Given the description of an element on the screen output the (x, y) to click on. 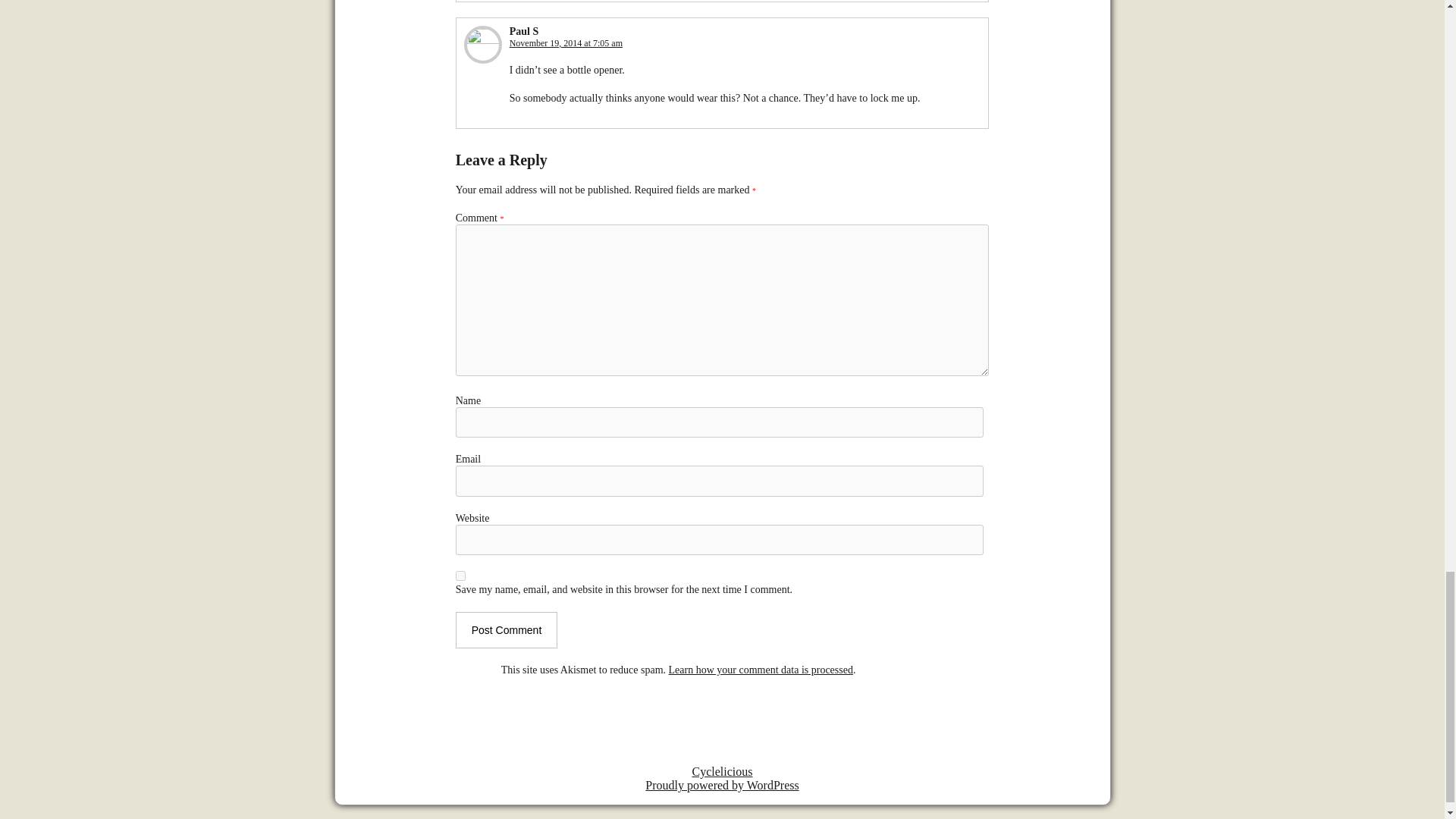
Learn how your comment data is processed (760, 669)
Proudly powered by WordPress (721, 784)
Post Comment (506, 629)
November 19, 2014 at 7:05 am (566, 42)
yes (460, 575)
Post Comment (506, 629)
Cyclelicious (721, 771)
